Given the description of an element on the screen output the (x, y) to click on. 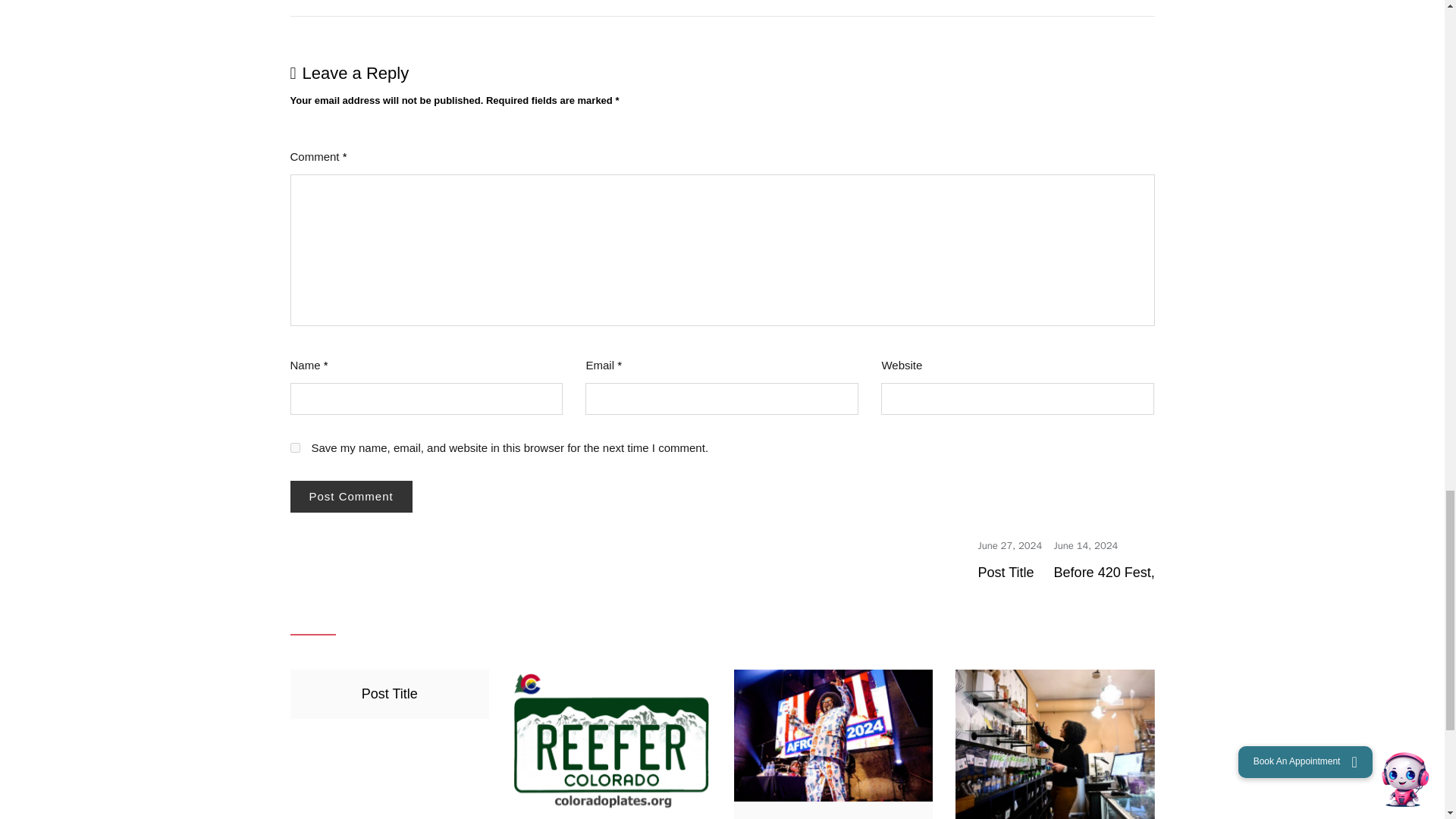
Post Title (1005, 572)
Post Title (1010, 545)
yes (294, 447)
Post Comment (350, 495)
